Given the description of an element on the screen output the (x, y) to click on. 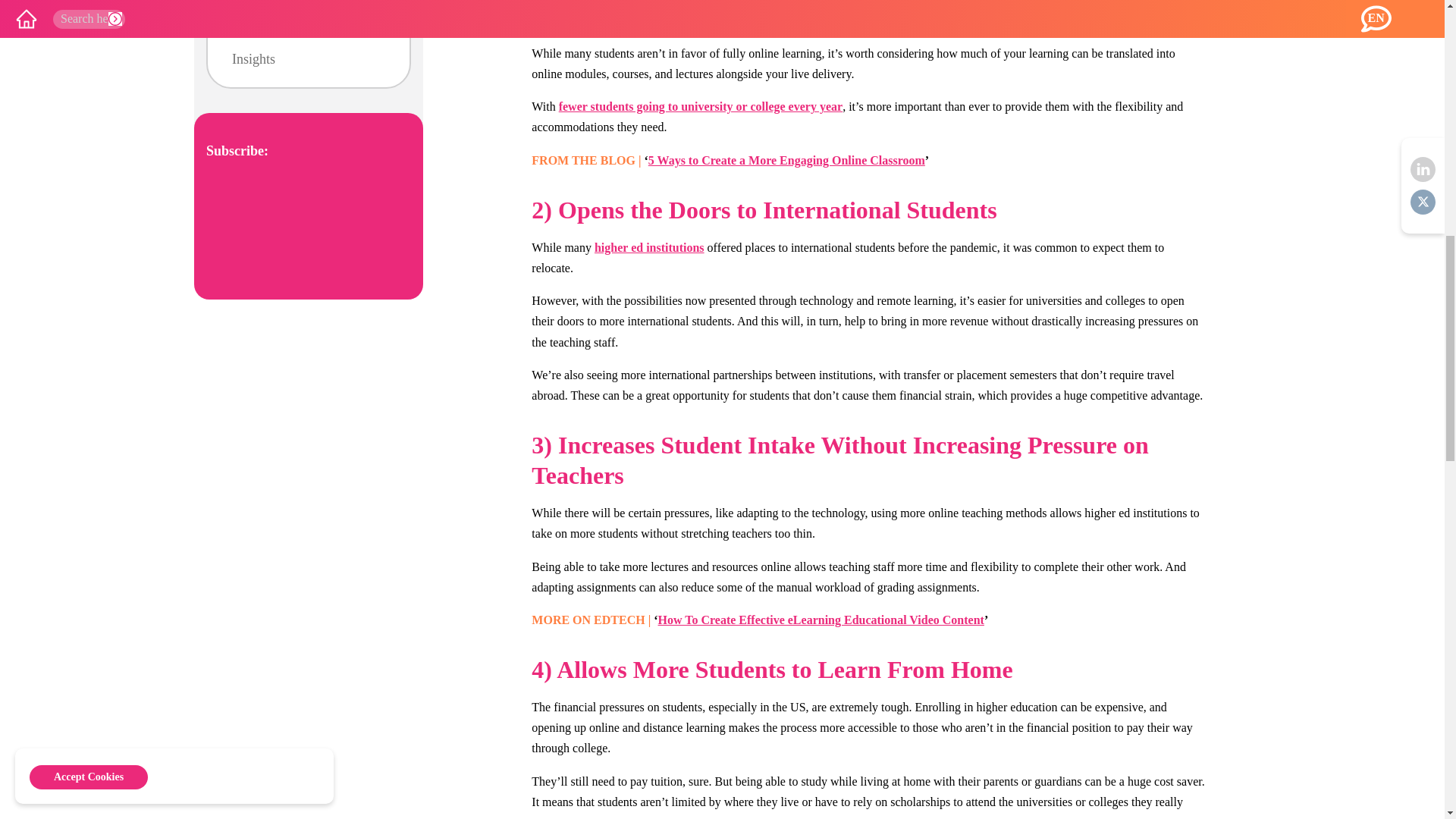
5 Ways to Create a More Engaging Online Classroom (785, 160)
Products (255, 30)
Subscribe to our blog (308, 227)
Corporate (258, 4)
higher ed institutions (649, 246)
Insights (253, 59)
How To Create Effective eLearning Educational Video Content (821, 619)
fewer students going to university or college every year (701, 106)
